Given the description of an element on the screen output the (x, y) to click on. 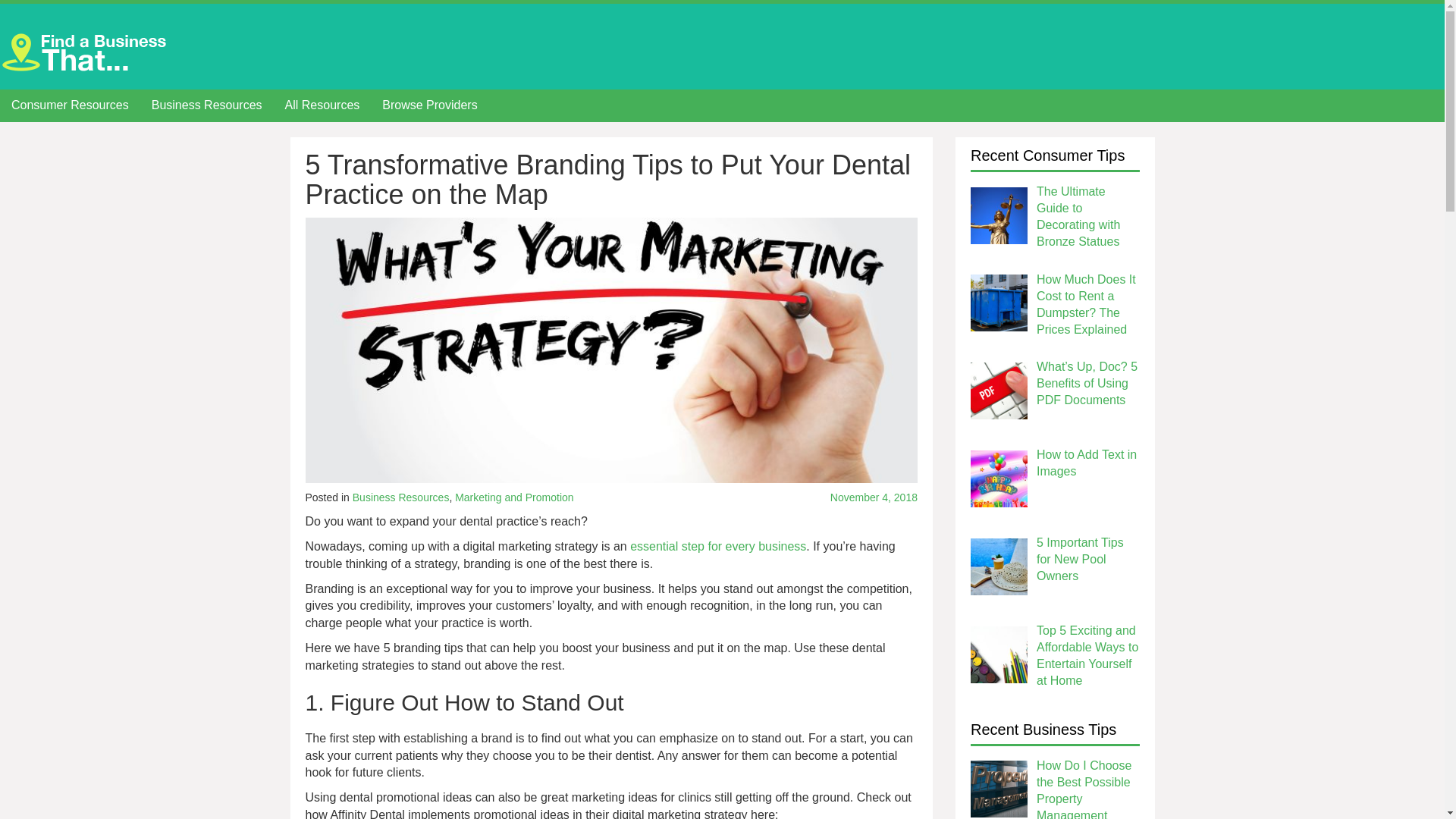
Consumer Resources (69, 105)
Marketing and Promotion (513, 497)
Business Resources (400, 497)
Business Resources (206, 105)
All Resources (322, 105)
How to Add Text in Images (1086, 462)
November 4, 2018 (823, 498)
essential step for every business (718, 545)
Browse Providers (429, 105)
FindABusinessThat.com (87, 51)
The Ultimate Guide to Decorating with Bronze Statues (1077, 216)
